Given the description of an element on the screen output the (x, y) to click on. 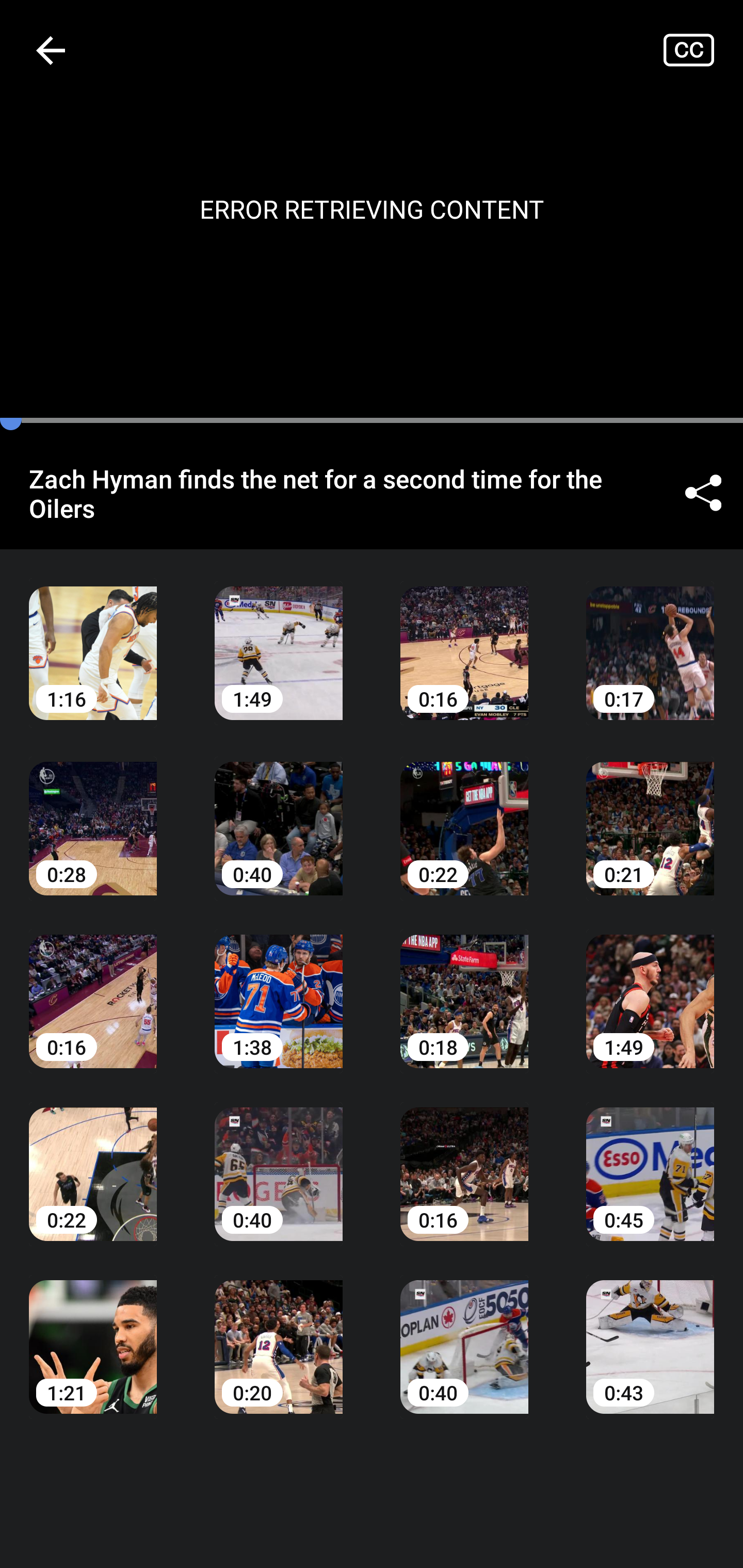
Navigate up (50, 50)
Closed captions  (703, 49)
Share © (703, 493)
1:16 (92, 637)
1:49 (278, 637)
0:16 (464, 637)
0:17 (650, 637)
0:28 (92, 813)
0:40 (278, 813)
0:22 (464, 813)
0:21 (650, 813)
0:16 (92, 987)
1:38 (278, 987)
0:18 (464, 987)
1:49 (650, 987)
0:22 (92, 1160)
0:40 (278, 1160)
0:16 (464, 1160)
0:45 (650, 1160)
1:21 (92, 1332)
0:20 (278, 1332)
0:40 (464, 1332)
0:43 (650, 1332)
